Given the description of an element on the screen output the (x, y) to click on. 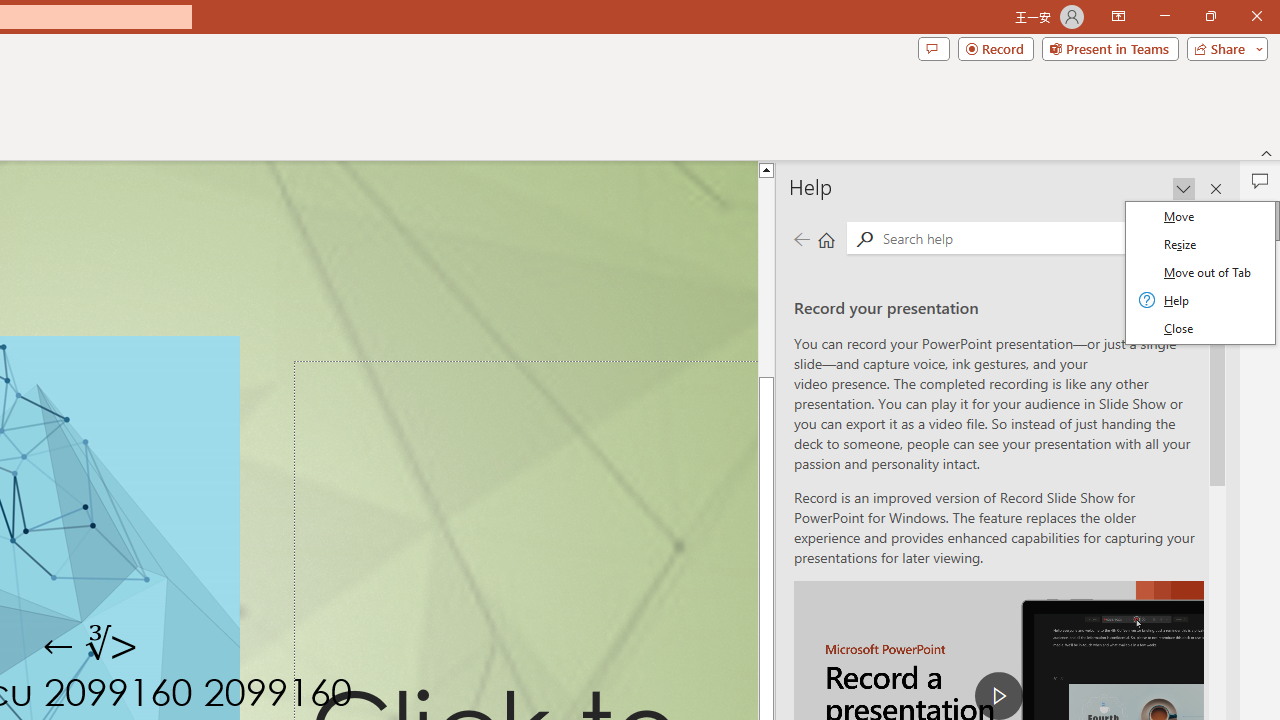
play Record a Presentation (998, 695)
